Given the description of an element on the screen output the (x, y) to click on. 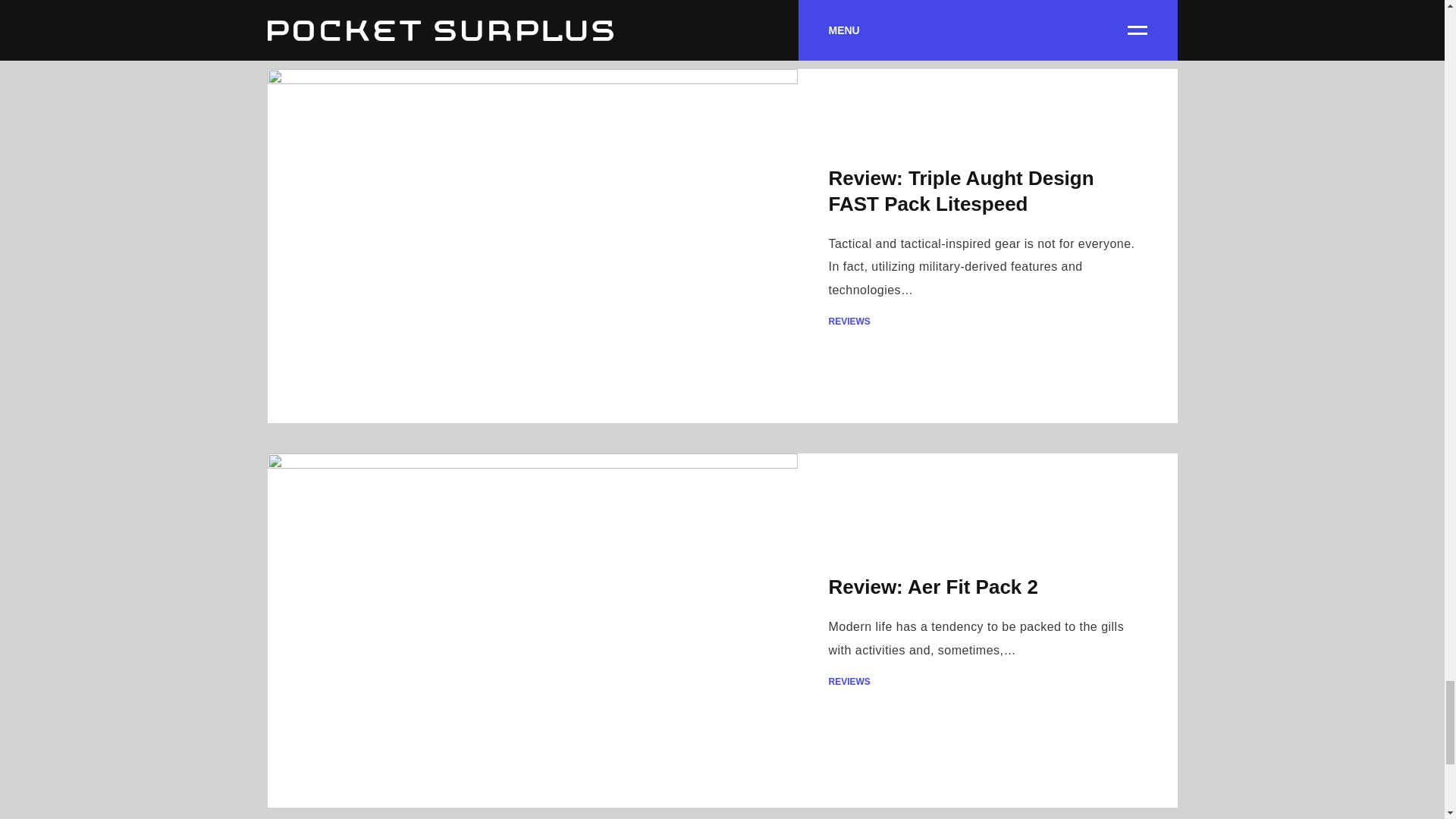
Review: Aer Fit Pack 2 (933, 586)
REVIEWS (987, 681)
REVIEWS (987, 320)
Review: Triple Aught Design FAST Pack Litespeed (960, 191)
